Given the description of an element on the screen output the (x, y) to click on. 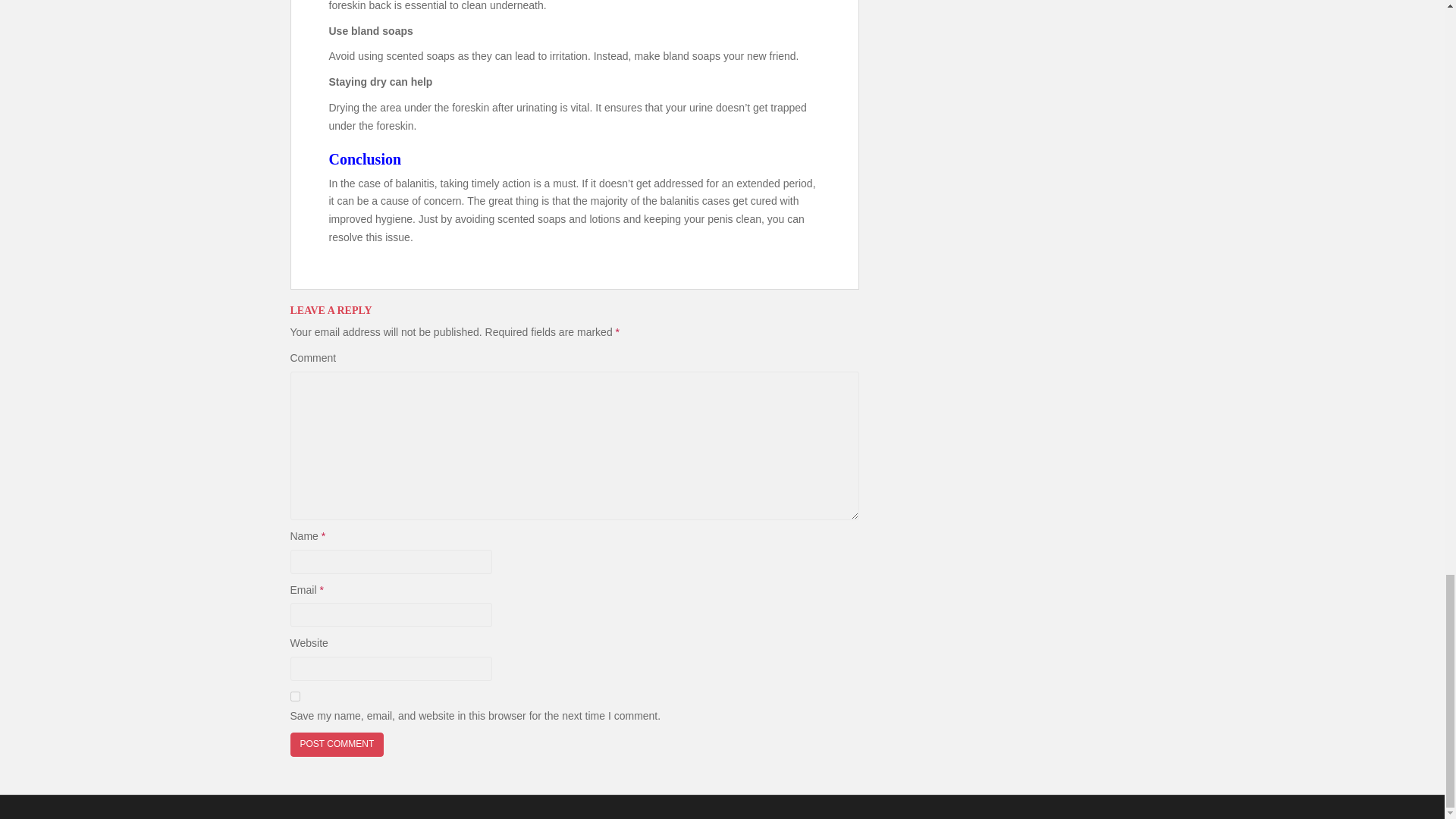
Post Comment (336, 743)
Post Comment (336, 743)
yes (294, 696)
